Given the description of an element on the screen output the (x, y) to click on. 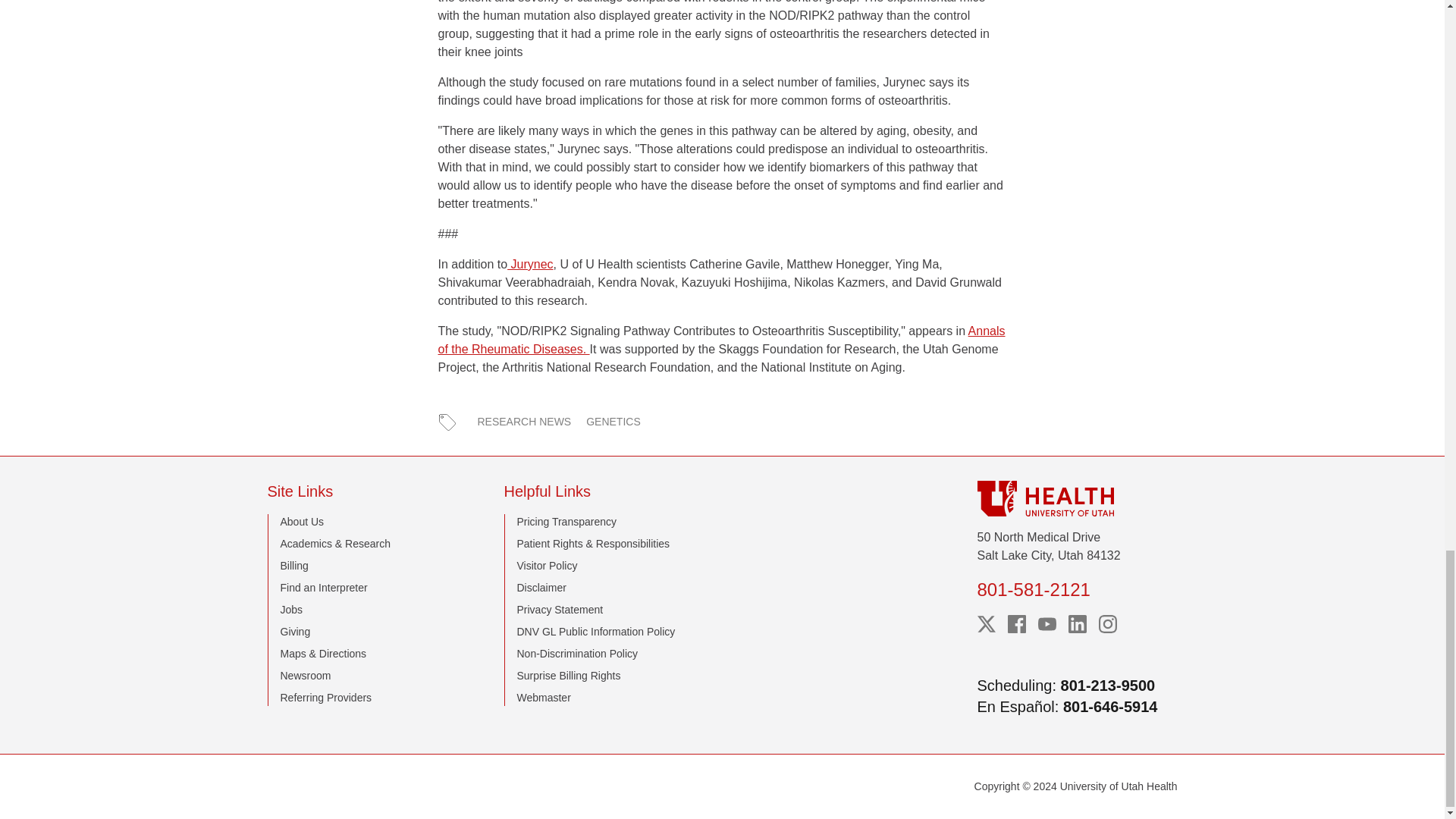
University of Utah Healthcare (1076, 498)
